Given the description of an element on the screen output the (x, y) to click on. 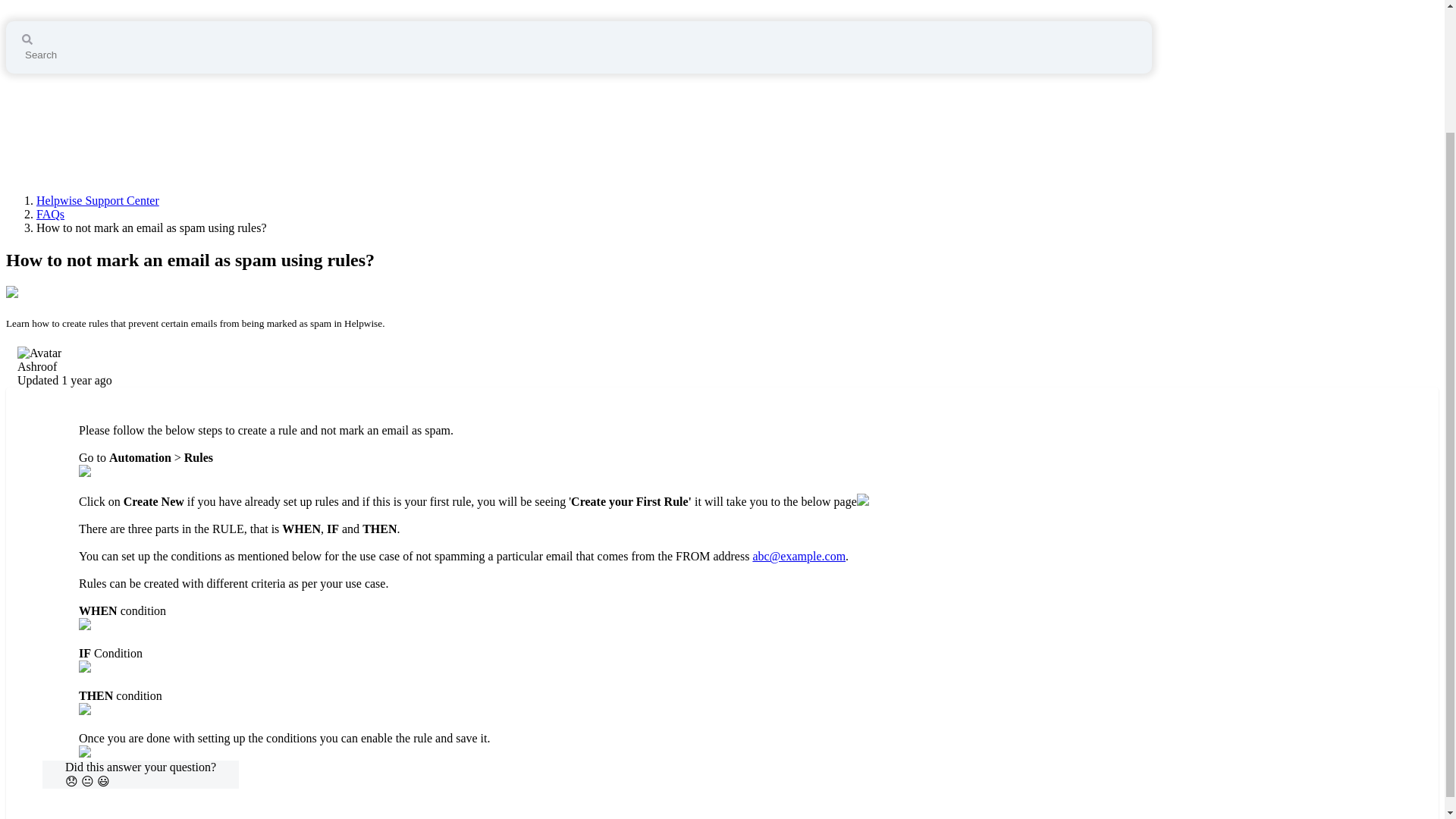
Helpwise Support Center (97, 200)
FAQs (50, 214)
